Given the description of an element on the screen output the (x, y) to click on. 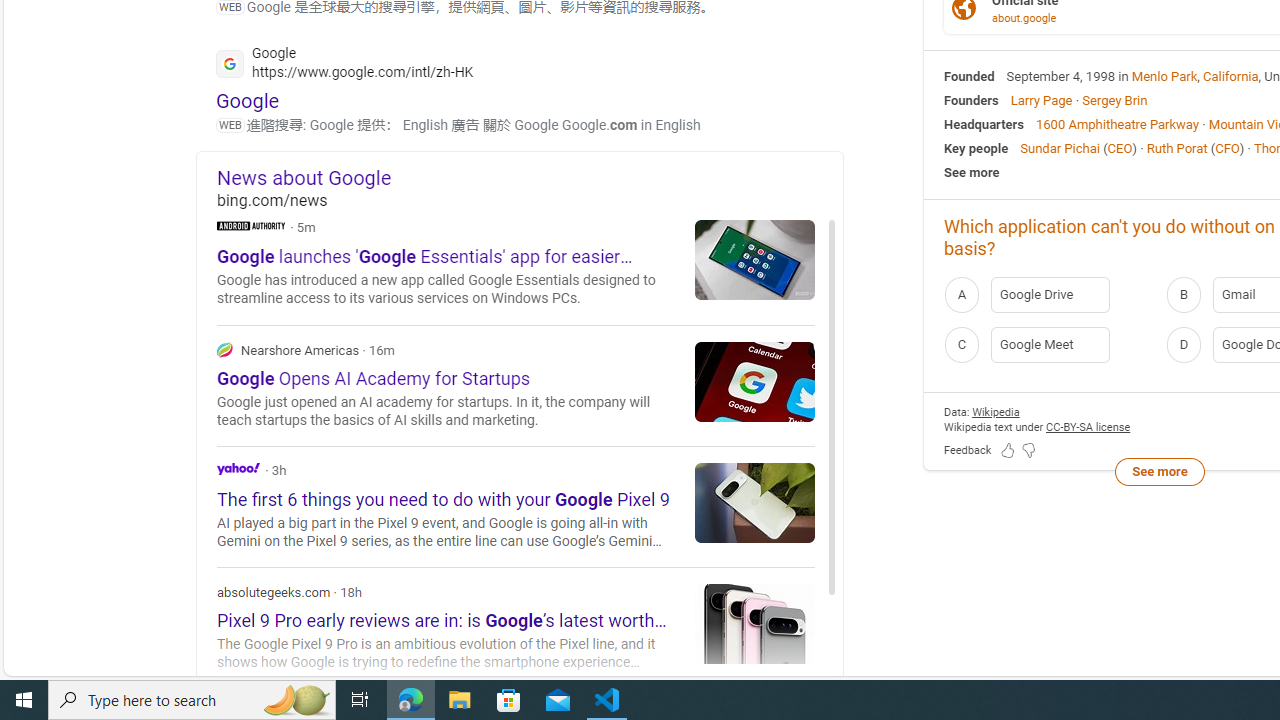
A Google Drive (1049, 294)
CEO (1119, 147)
CC-BY-SA license (1088, 426)
C Google Meet (1049, 344)
Ruth Porat (1176, 147)
Feedback Like (1007, 450)
absolutegeeks.com (516, 627)
CFO (1227, 147)
Menlo Park (1164, 75)
Google Opens AI Academy for Startups (755, 381)
bing.com/news (530, 199)
